Given the description of an element on the screen output the (x, y) to click on. 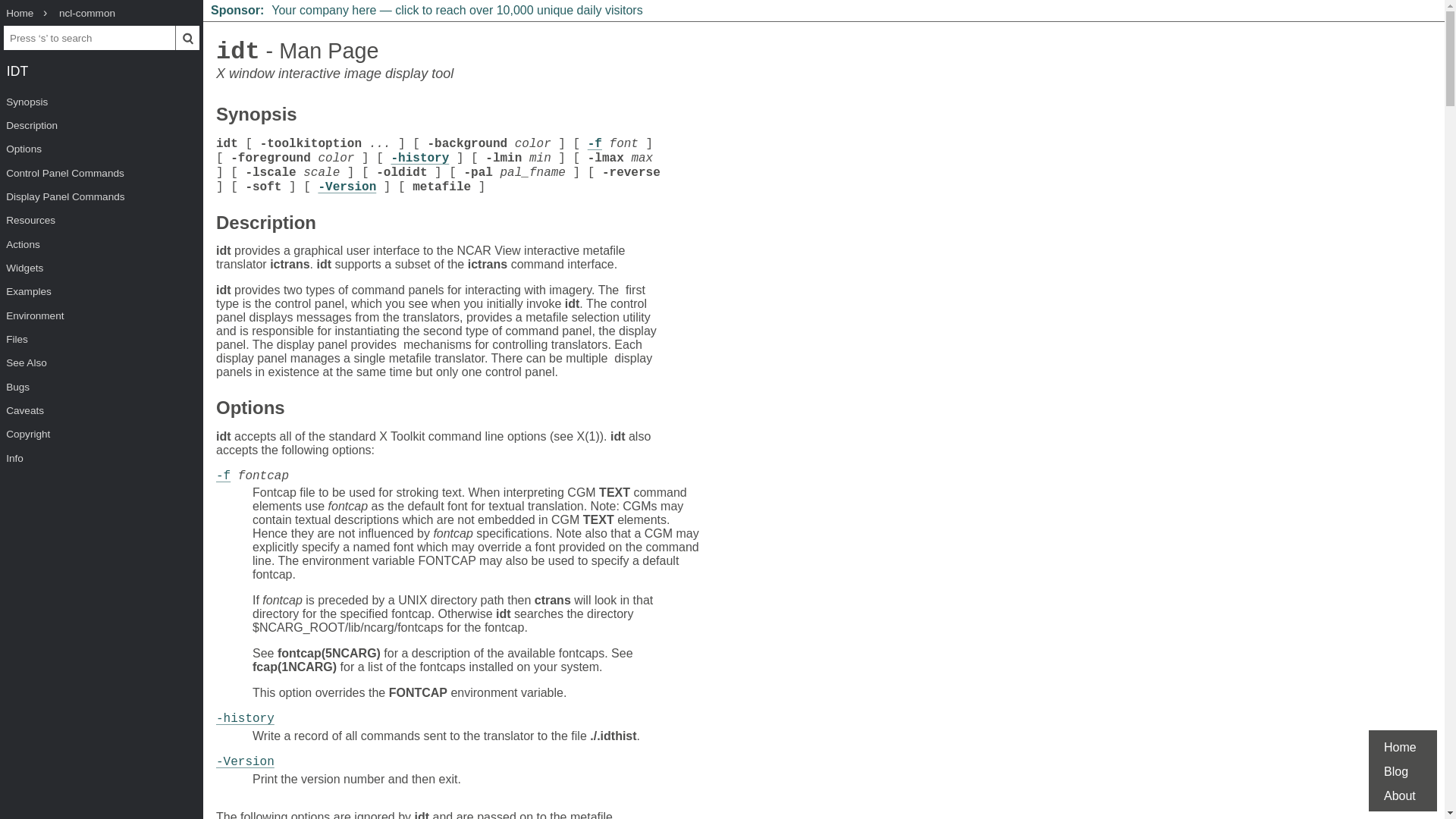
-Version (245, 762)
Caveats (101, 410)
-history (419, 158)
ncl-common (86, 13)
See Also (101, 362)
-f (595, 143)
-history (245, 718)
Environment (101, 314)
Home (20, 13)
Info (101, 457)
Control Panel Commands (101, 173)
Description (101, 125)
Examples (101, 291)
Synopsis (256, 115)
Description (265, 224)
